Given the description of an element on the screen output the (x, y) to click on. 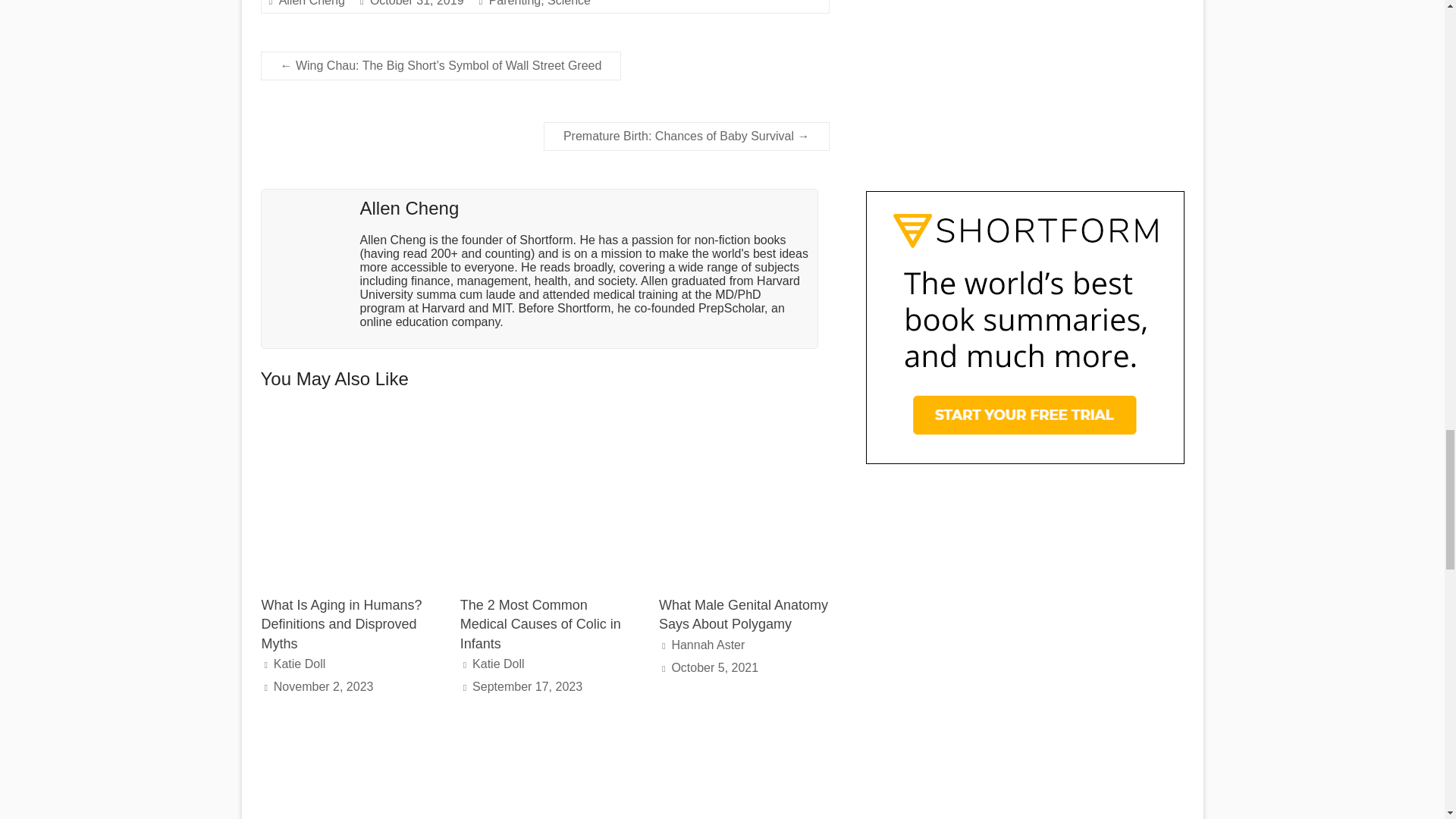
Katie Doll (497, 663)
10:00 am (526, 686)
Hannah Aster (707, 644)
What Male Genital Anatomy Says About Polygamy (743, 614)
Katie Doll (298, 663)
What Is Aging in Humans? Definitions and Disproved Myths (345, 420)
October 31, 2019 (416, 3)
What Is Aging in Humans? Definitions and Disproved Myths (341, 623)
The 2 Most Common Medical Causes of Colic in Infants (540, 623)
November 2, 2023 (323, 686)
